Given the description of an element on the screen output the (x, y) to click on. 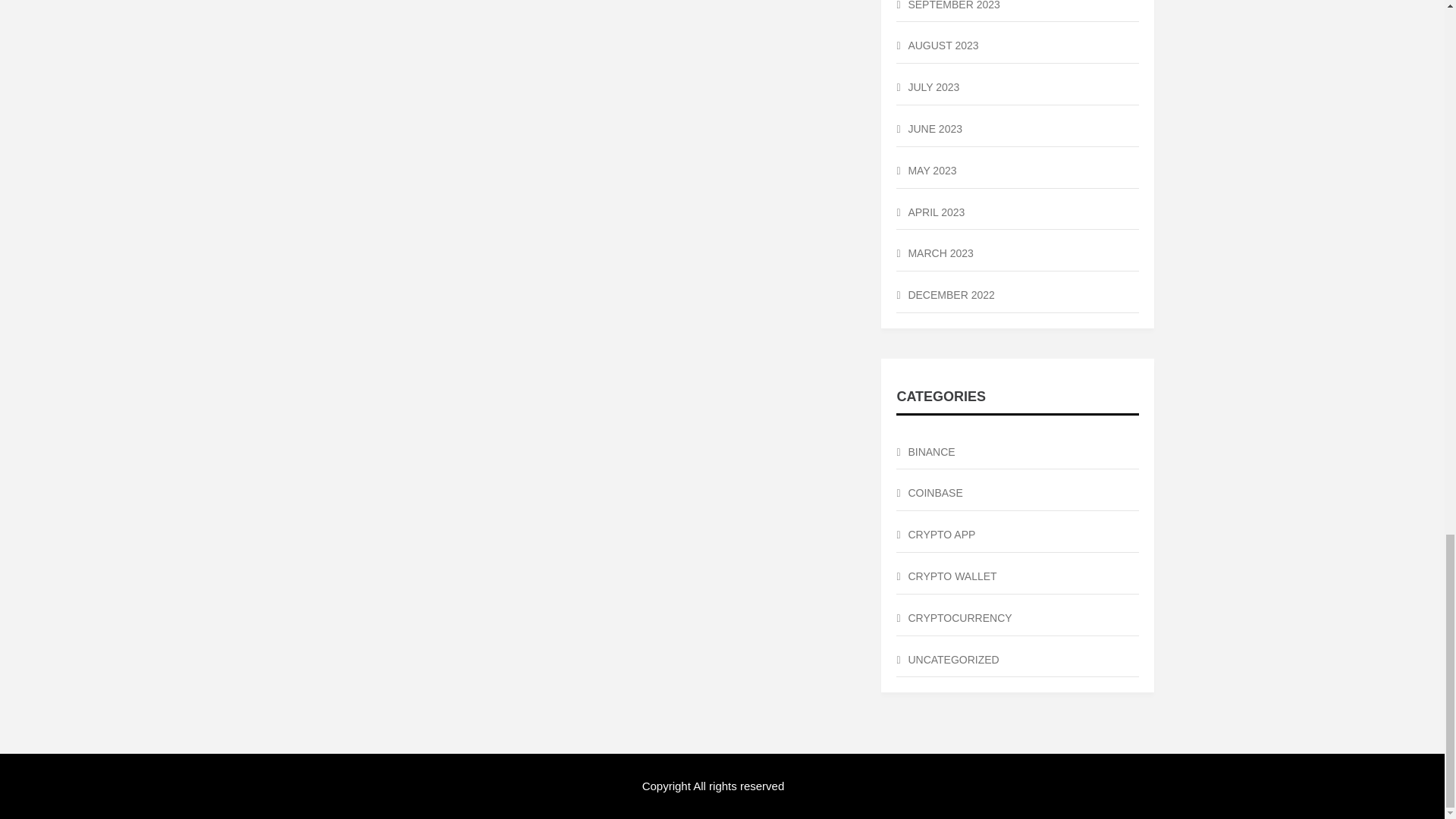
SEPTEMBER 2023 (1017, 11)
